Given the description of an element on the screen output the (x, y) to click on. 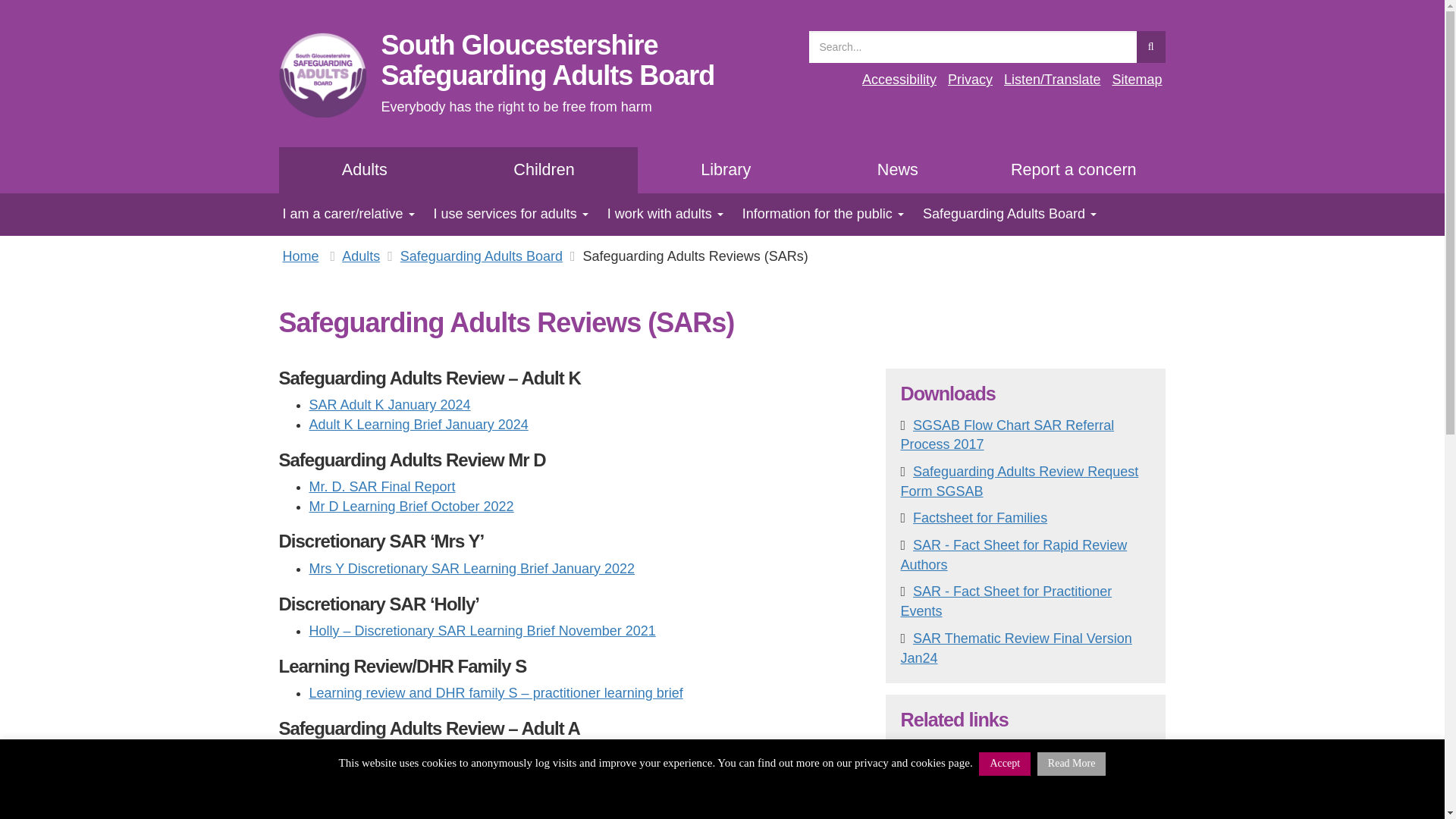
Sitemap (1136, 79)
Library (725, 170)
I work with adults (547, 59)
News (659, 213)
Accessibility (897, 170)
I use services for adults (898, 79)
Adults (504, 213)
Privacy (365, 170)
Report a concern (969, 79)
Children (1073, 170)
